Given the description of an element on the screen output the (x, y) to click on. 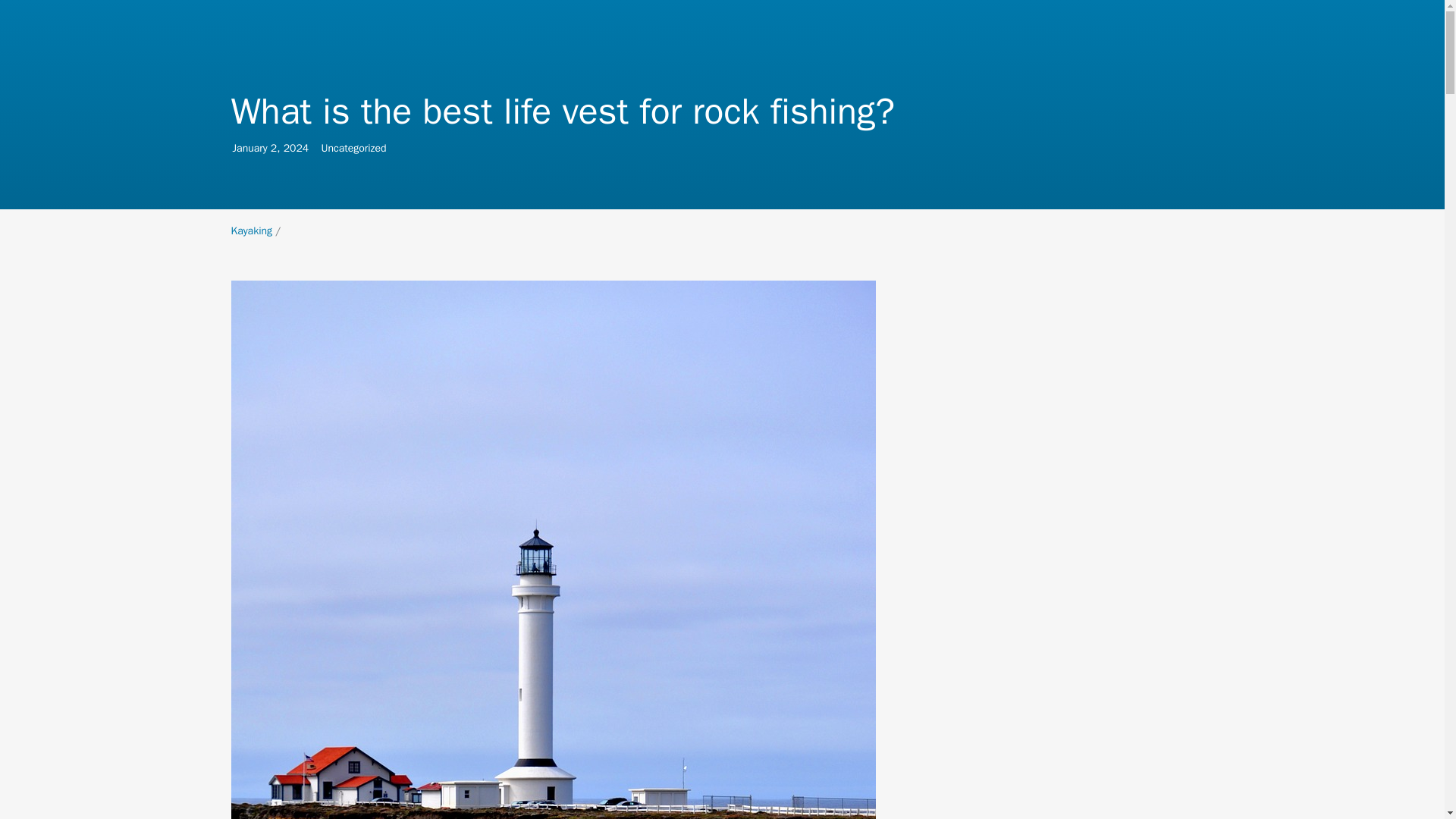
January (251, 230)
2024 (248, 147)
